Given the description of an element on the screen output the (x, y) to click on. 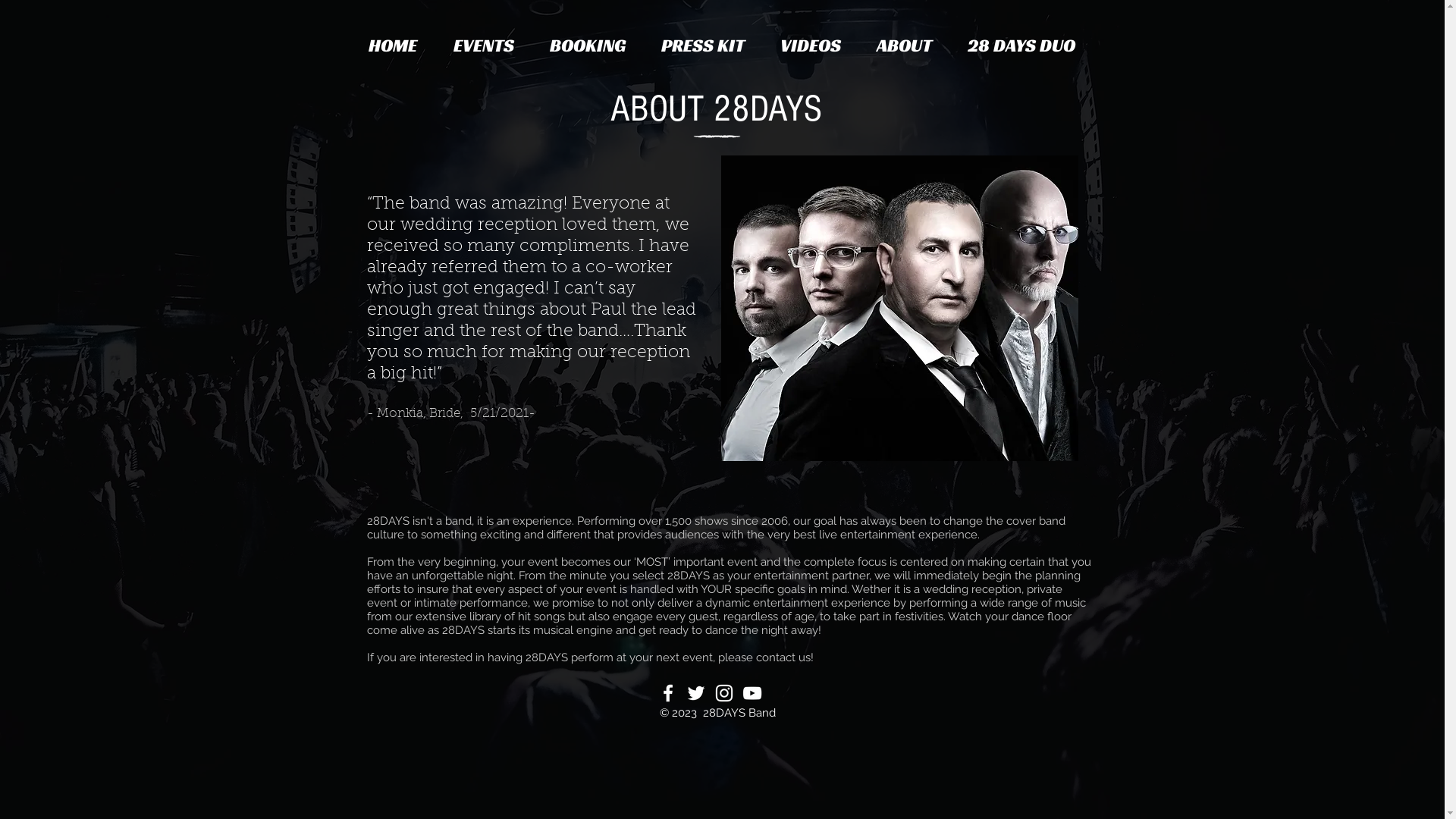
VIDEOS Element type: text (810, 45)
ABOUT Element type: text (903, 45)
HOME Element type: text (392, 45)
EVENTS Element type: text (483, 45)
PRESS KIT Element type: text (702, 45)
28 DAYS DUO Element type: text (1020, 45)
BOOKING Element type: text (587, 45)
16142927_10154274485000098_2925876318847220234_n.jpg Element type: hover (898, 308)
